Given the description of an element on the screen output the (x, y) to click on. 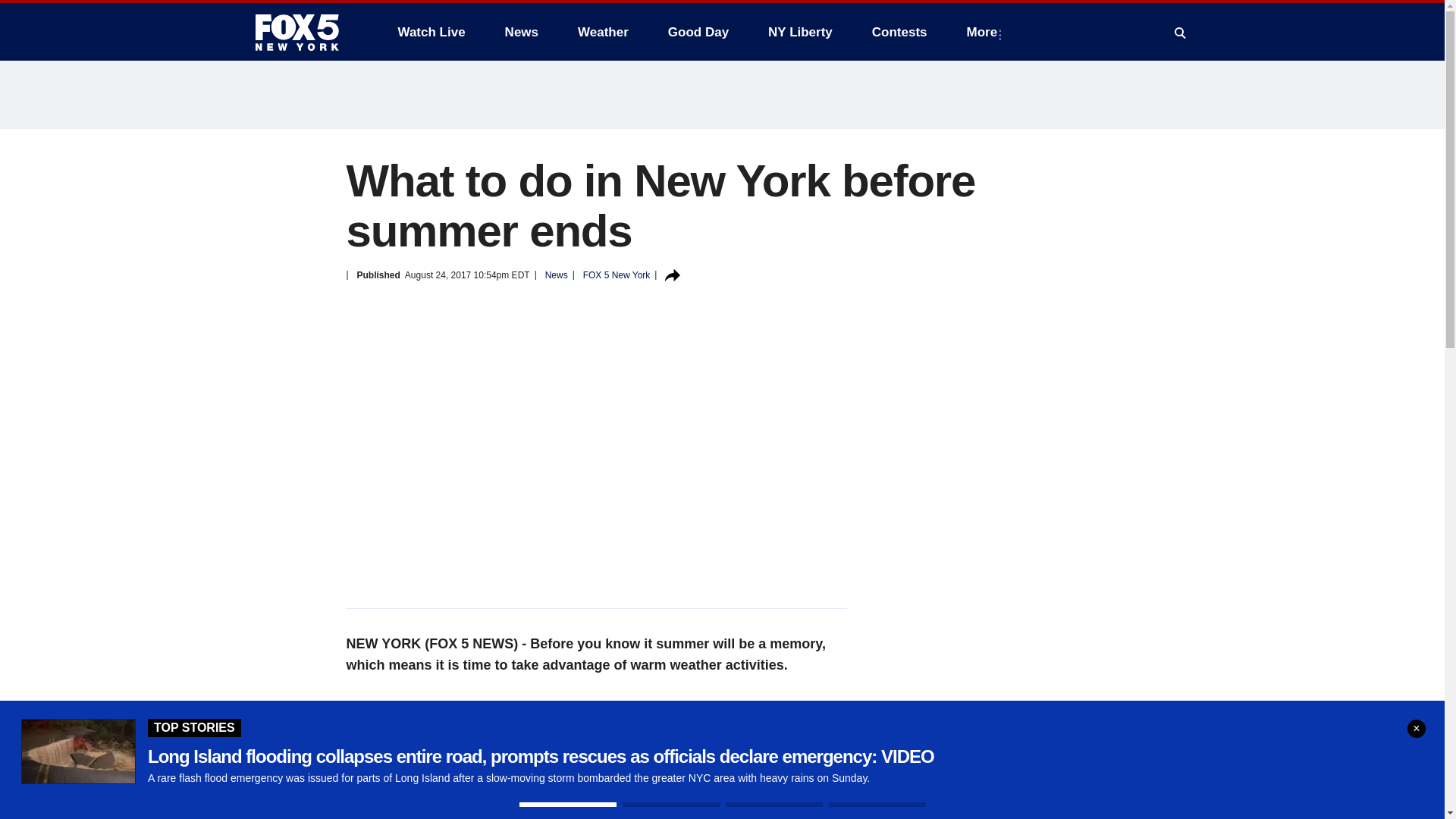
More (985, 32)
Good Day (698, 32)
Contests (899, 32)
NY Liberty (799, 32)
Watch Live (431, 32)
Weather (603, 32)
News (521, 32)
